Given the description of an element on the screen output the (x, y) to click on. 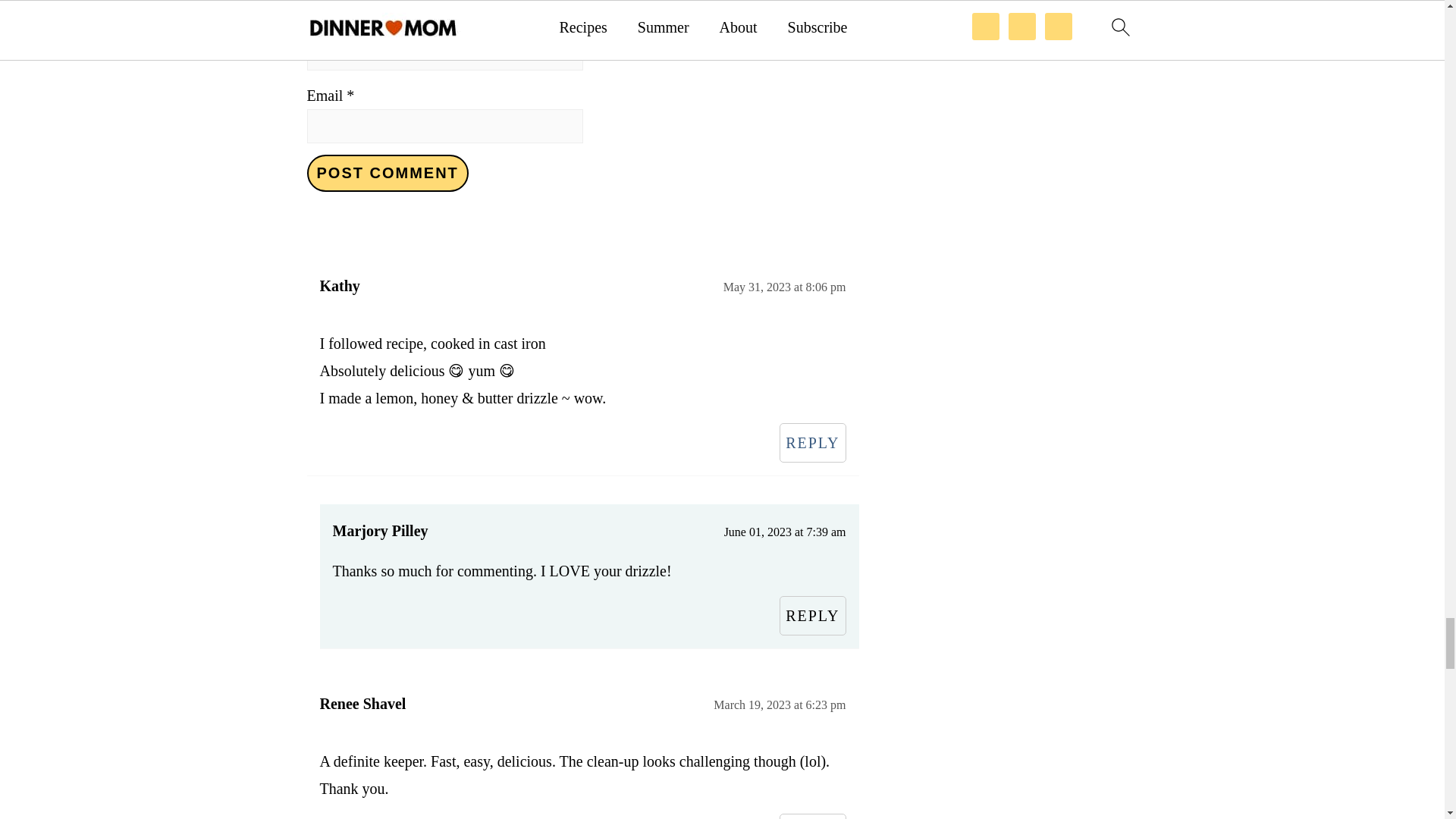
Post Comment (386, 172)
